Given the description of an element on the screen output the (x, y) to click on. 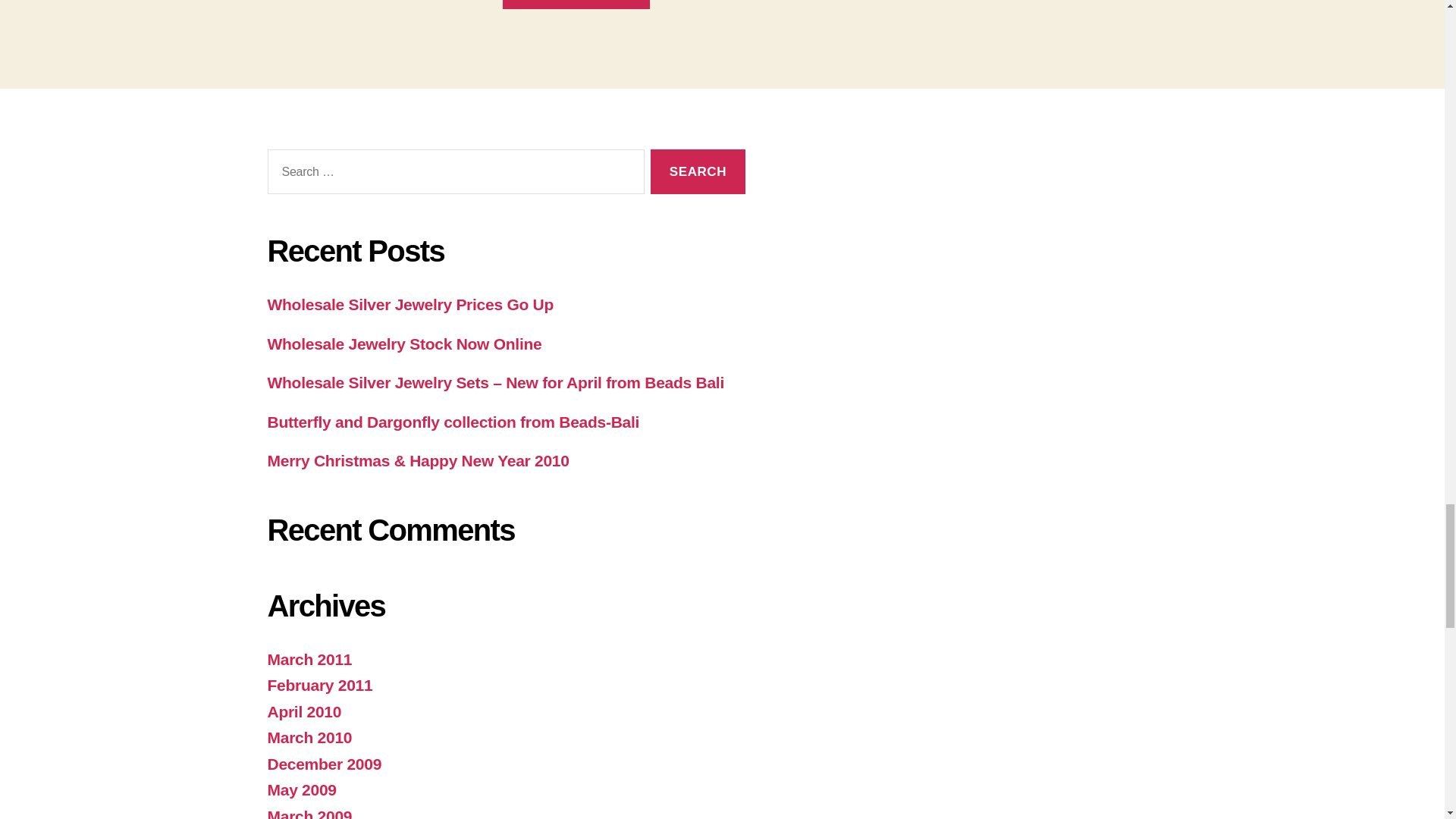
Post Comment (575, 4)
April 2010 (303, 711)
Search (697, 171)
Wholesale Jewelry Stock Now Online (403, 343)
March 2011 (309, 659)
February 2011 (319, 684)
Search (697, 171)
Butterfly and Dargonfly collection from Beads-Bali (452, 421)
Search (697, 171)
Post Comment (575, 4)
Wholesale Silver Jewelry Prices Go Up (409, 303)
